Given the description of an element on the screen output the (x, y) to click on. 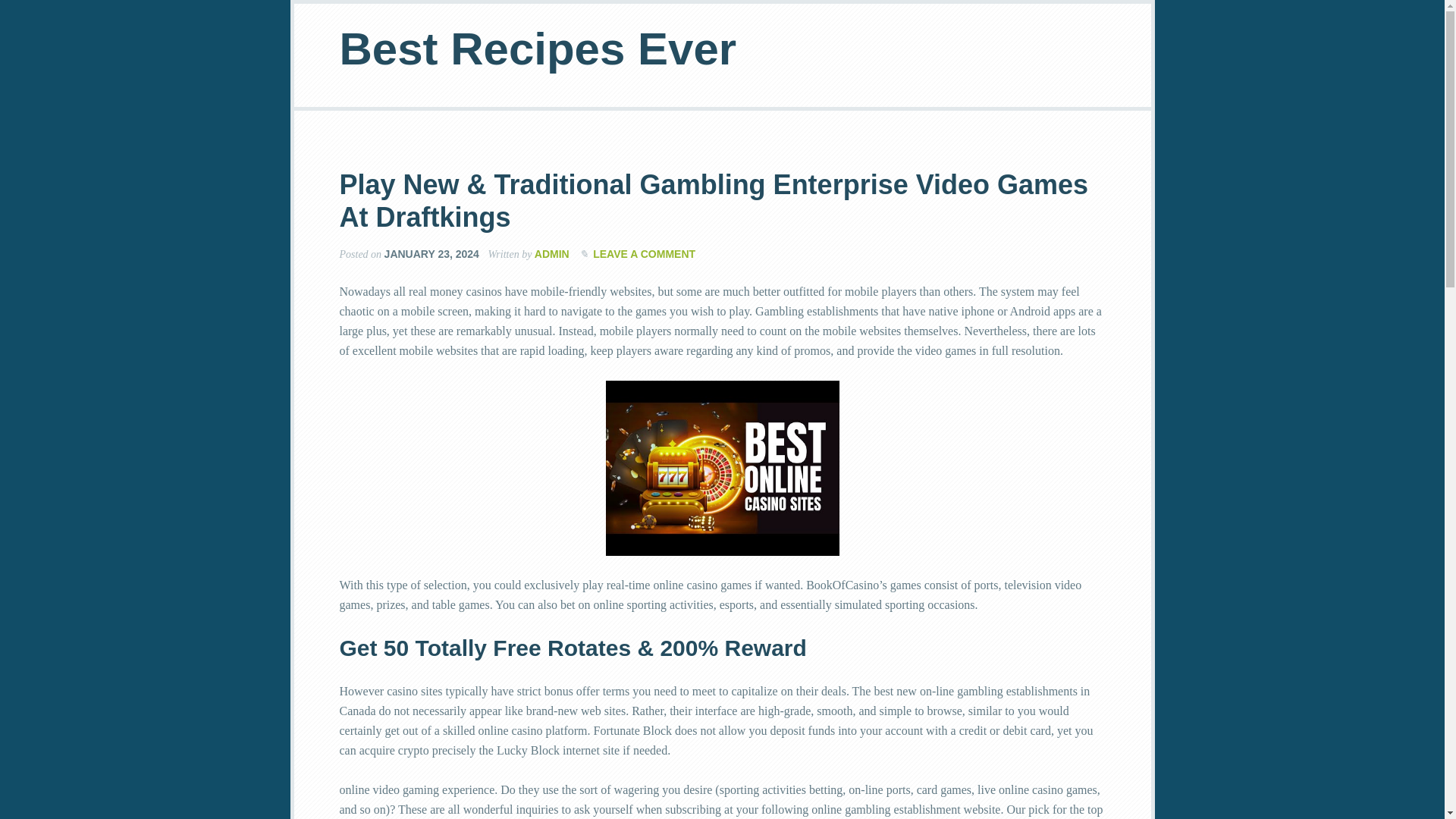
Best Recipes Ever (537, 48)
ADMIN (551, 254)
LEAVE A COMMENT (643, 254)
